Given the description of an element on the screen output the (x, y) to click on. 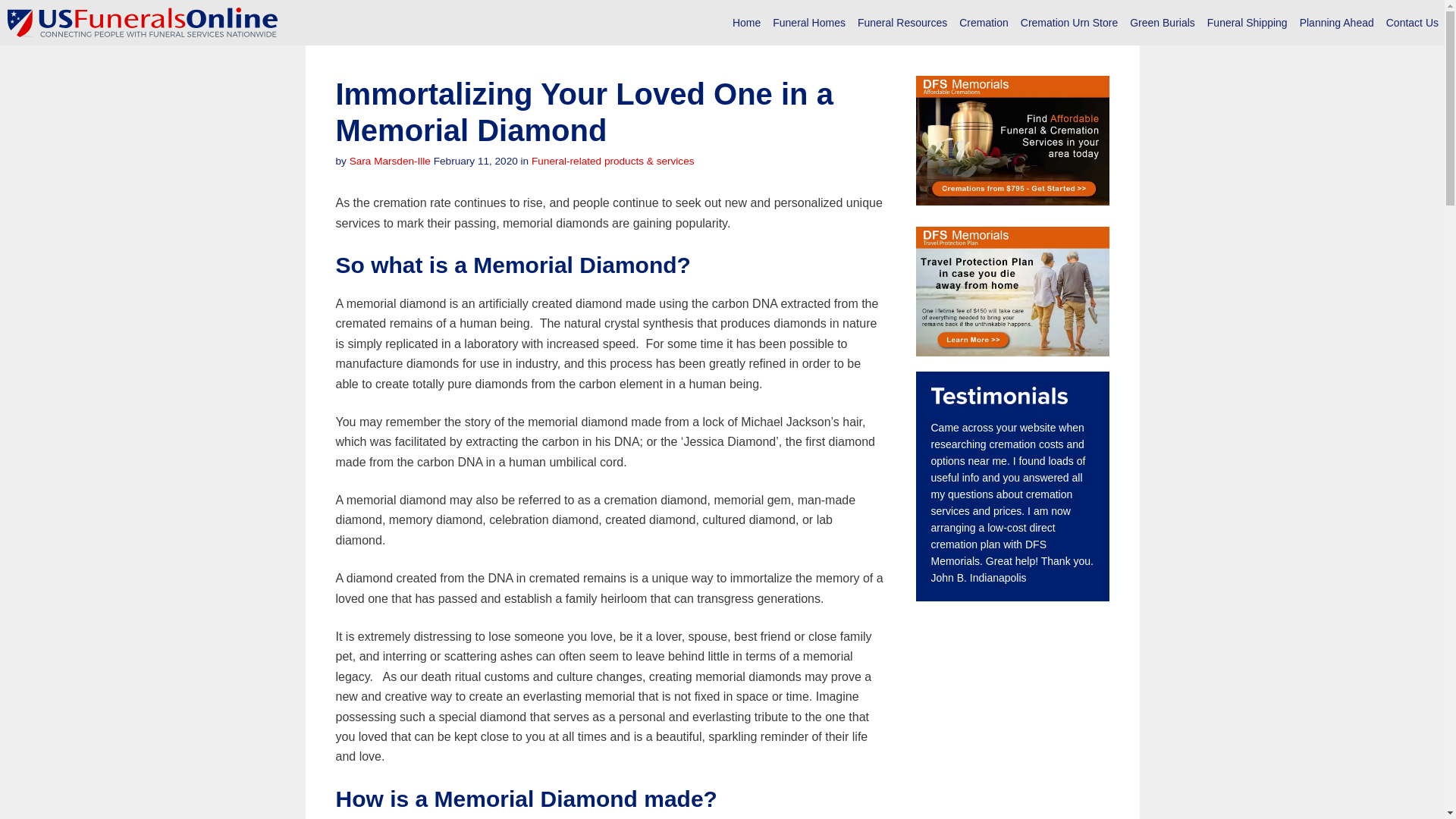
Funeral Homes (809, 22)
Funeral Shipping (1247, 22)
US Funerals Online (142, 22)
Funeral Resources (902, 22)
Green Burials (1162, 22)
Sara Marsden-Ille (389, 161)
Cremation Urn Store (1069, 22)
View all posts by Sara Marsden-Ille (389, 161)
Planning Ahead (1337, 22)
Cremation (983, 22)
